Given the description of an element on the screen output the (x, y) to click on. 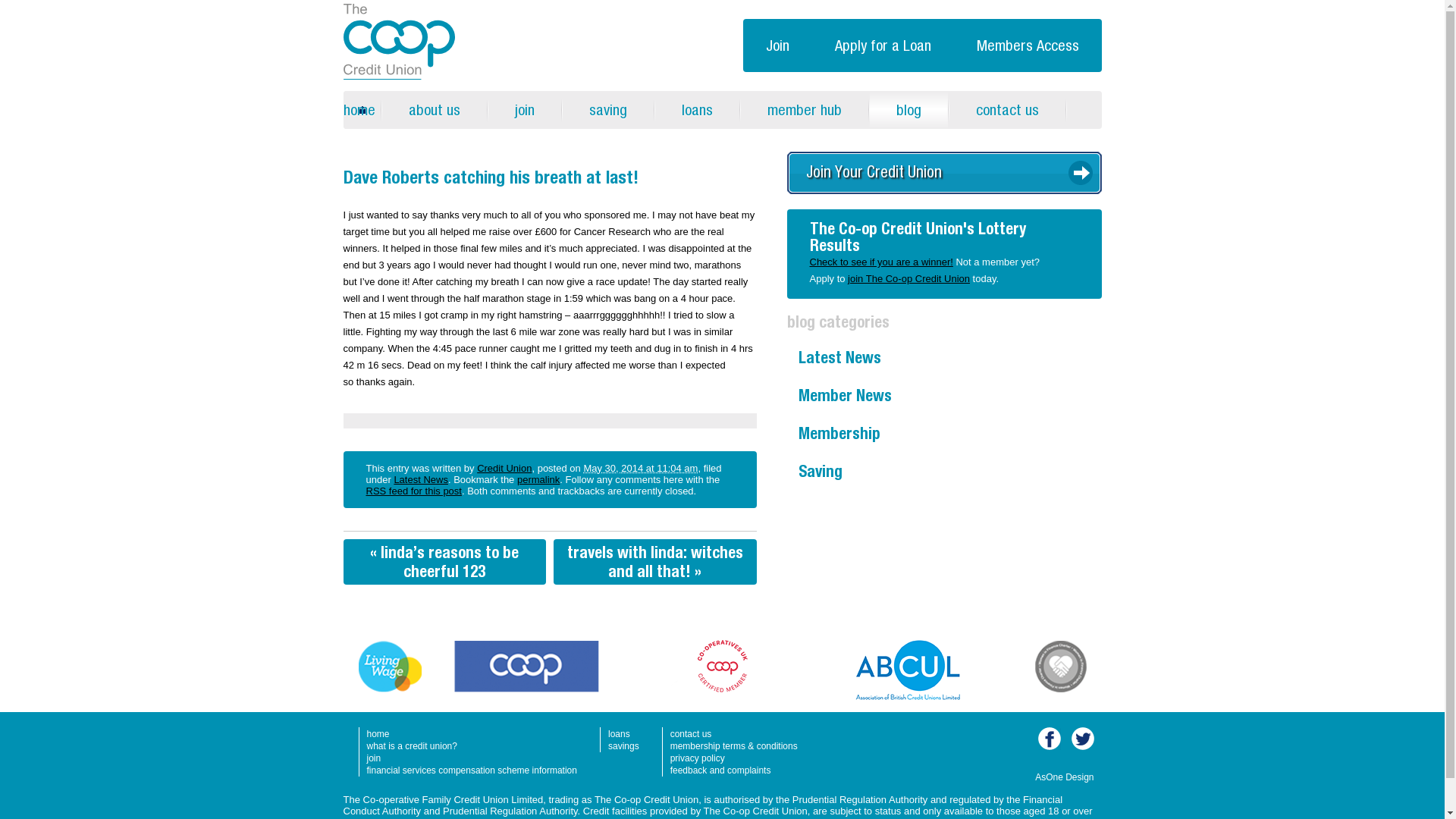
about us (433, 109)
saving (607, 109)
View all posts by Credit Union (504, 468)
Members Access (1027, 45)
join (523, 109)
home (361, 109)
Join (777, 45)
Permalink to Dave Roberts catching his breath at last! (537, 479)
Apply for a Loan (881, 45)
loans (697, 109)
Comments RSS to Dave Roberts catching his breath at last! (413, 490)
